Given the description of an element on the screen output the (x, y) to click on. 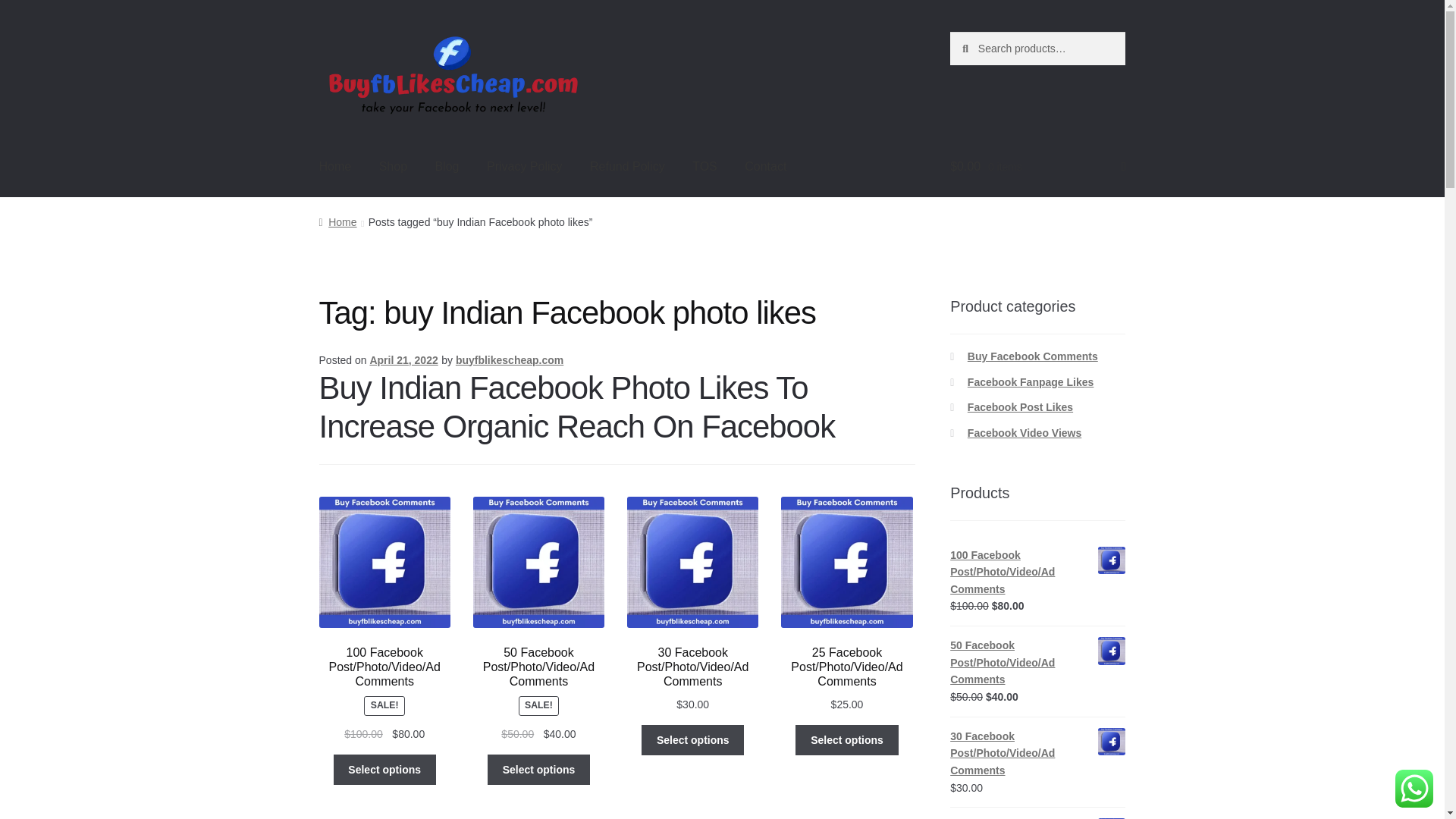
Select options (384, 769)
Select options (693, 739)
Refund Policy (627, 166)
Home (337, 222)
Privacy Policy (524, 166)
April 21, 2022 (403, 358)
Home (335, 166)
Select options (538, 769)
Contact (764, 166)
Select options (846, 739)
View your shopping cart (1037, 166)
buyfblikescheap.com (509, 358)
